Given the description of an element on the screen output the (x, y) to click on. 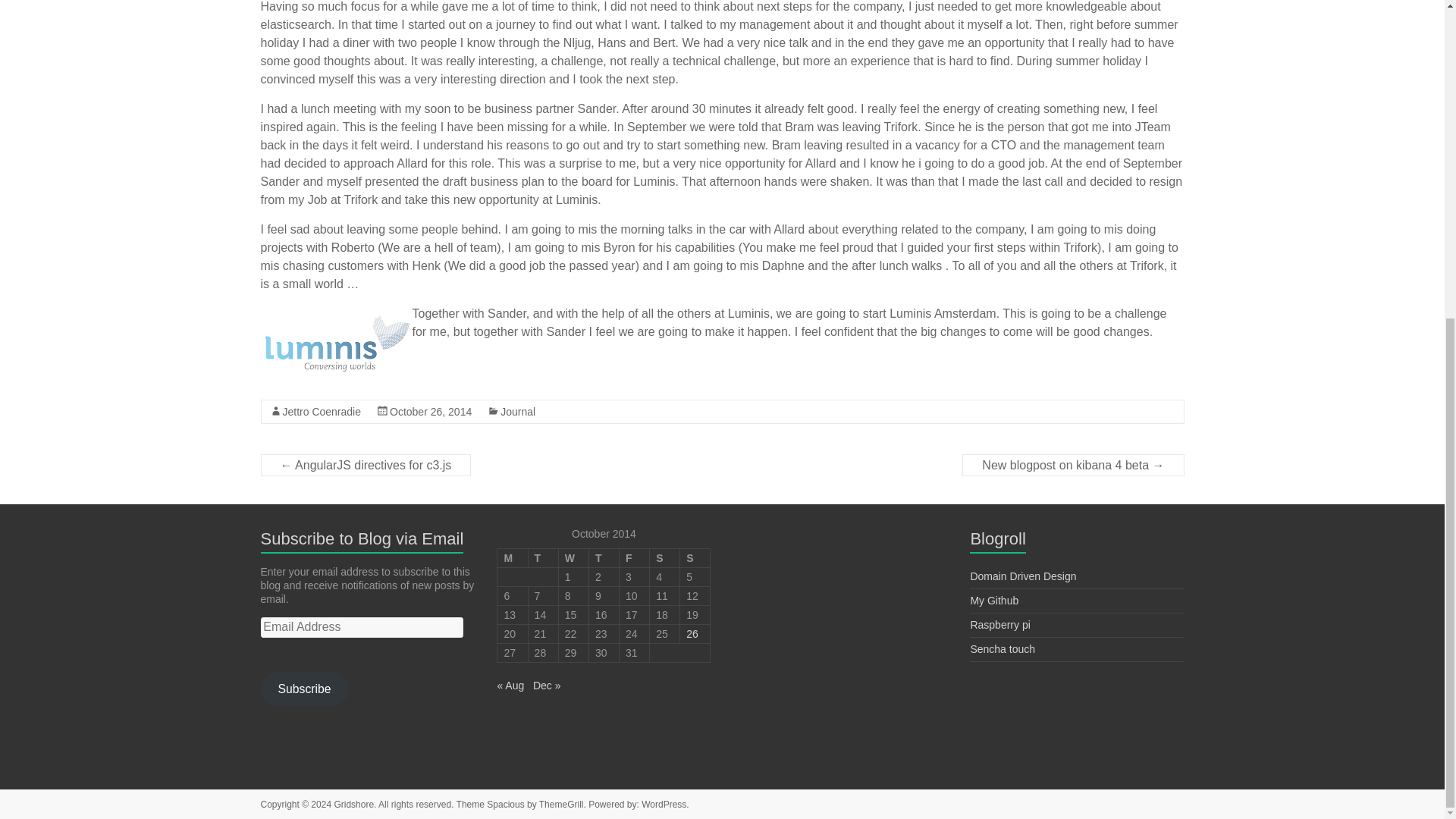
Gridshore (353, 804)
Sunday (694, 557)
Journal (517, 410)
Domain Driven Design (1022, 576)
Tuesday (542, 557)
Gridshore (353, 804)
Spacious (505, 804)
26 (691, 633)
Information about a raspberry pi, you want to own it too. (999, 624)
WordPress (663, 804)
Subscribe (304, 688)
This is my Github page (993, 600)
Saturday (664, 557)
